Given the description of an element on the screen output the (x, y) to click on. 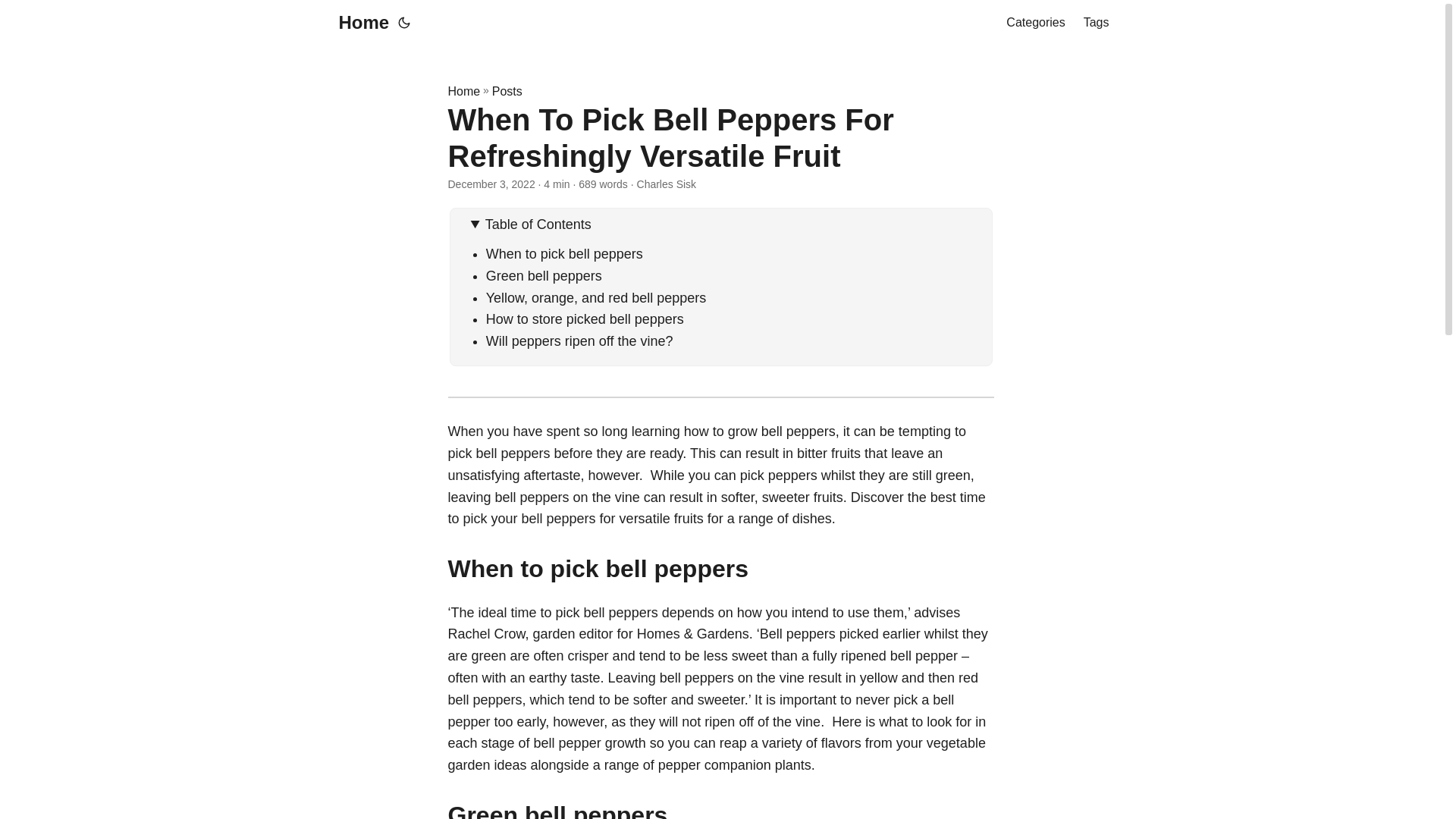
Categories (1035, 22)
Categories (1035, 22)
Home (359, 22)
When to pick bell peppers   (568, 253)
How to store picked bell peppers  (586, 319)
Home (463, 91)
Posts (507, 91)
Green bell peppers   (548, 275)
Will peppers ripen off the vine?   (583, 340)
Yellow, orange, and red bell peppers   (600, 297)
